Given the description of an element on the screen output the (x, y) to click on. 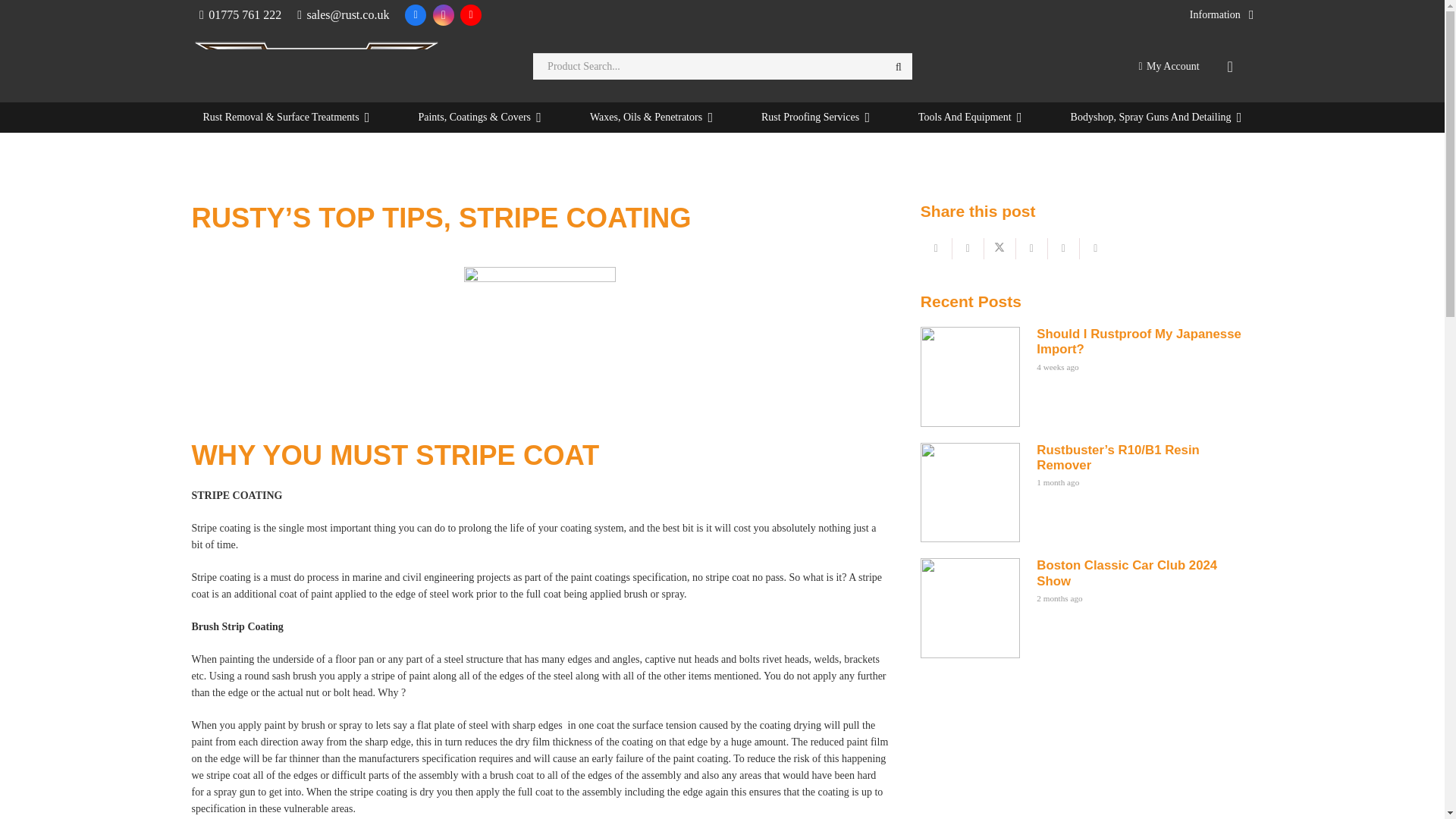
Facebook (415, 14)
01775 761 222 (240, 14)
Pin this (1064, 248)
Share this (1032, 248)
Information (1221, 14)
Tweet this (1000, 248)
Email this (936, 248)
Share this (968, 248)
Instagram (443, 14)
YouTube (470, 14)
